Given the description of an element on the screen output the (x, y) to click on. 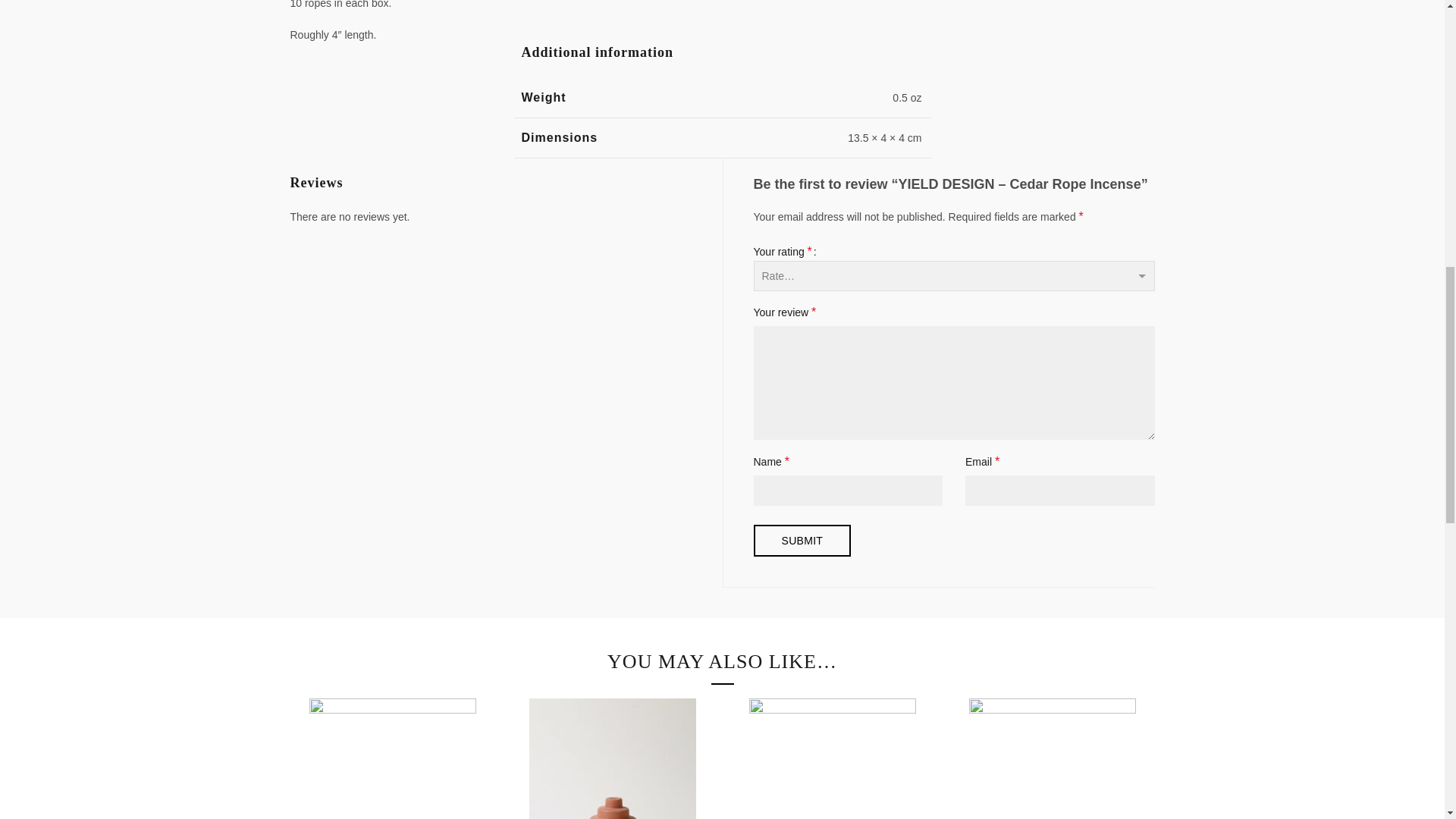
Submit (802, 540)
